Given the description of an element on the screen output the (x, y) to click on. 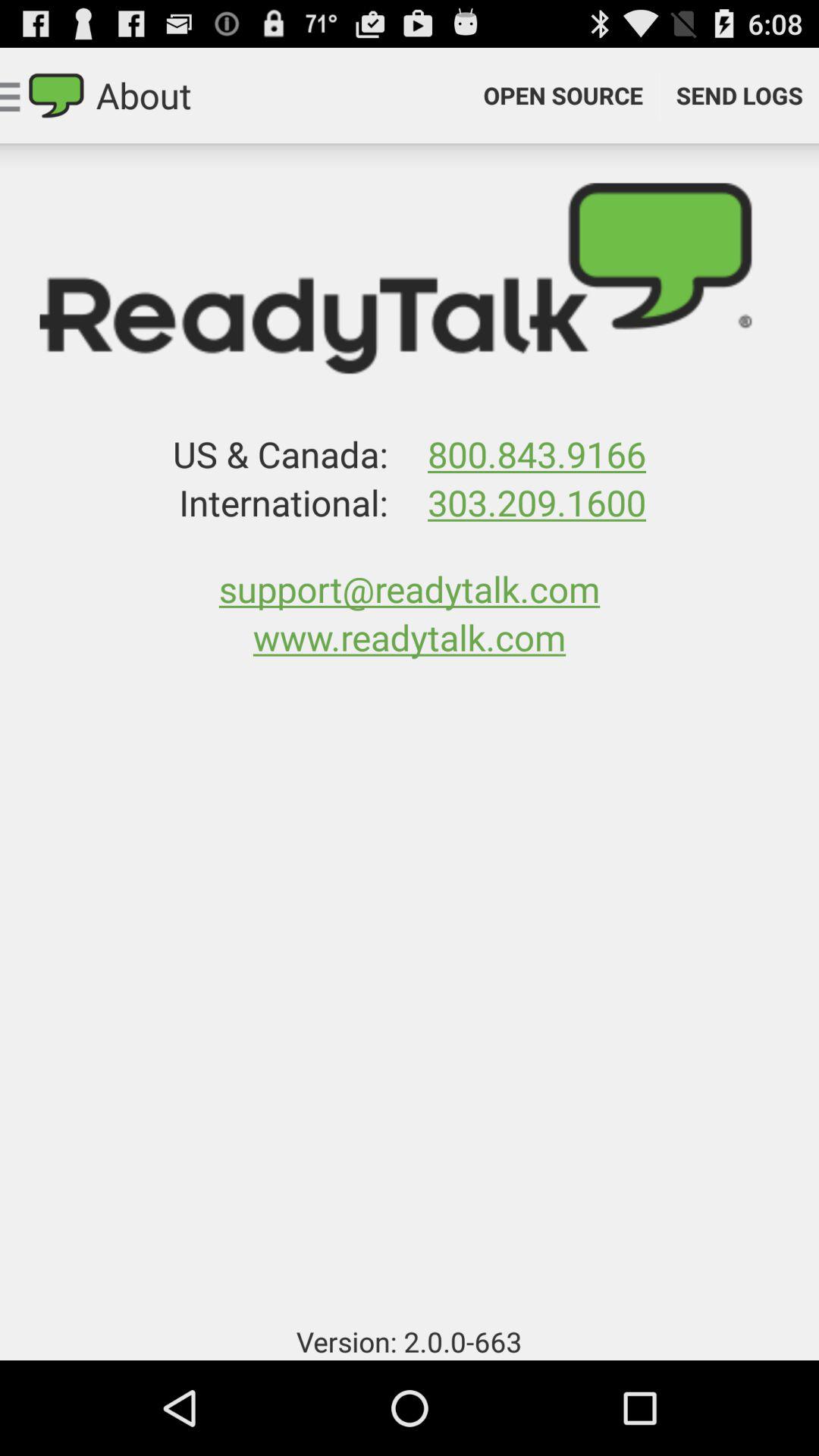
open item next to open source item (739, 95)
